Given the description of an element on the screen output the (x, y) to click on. 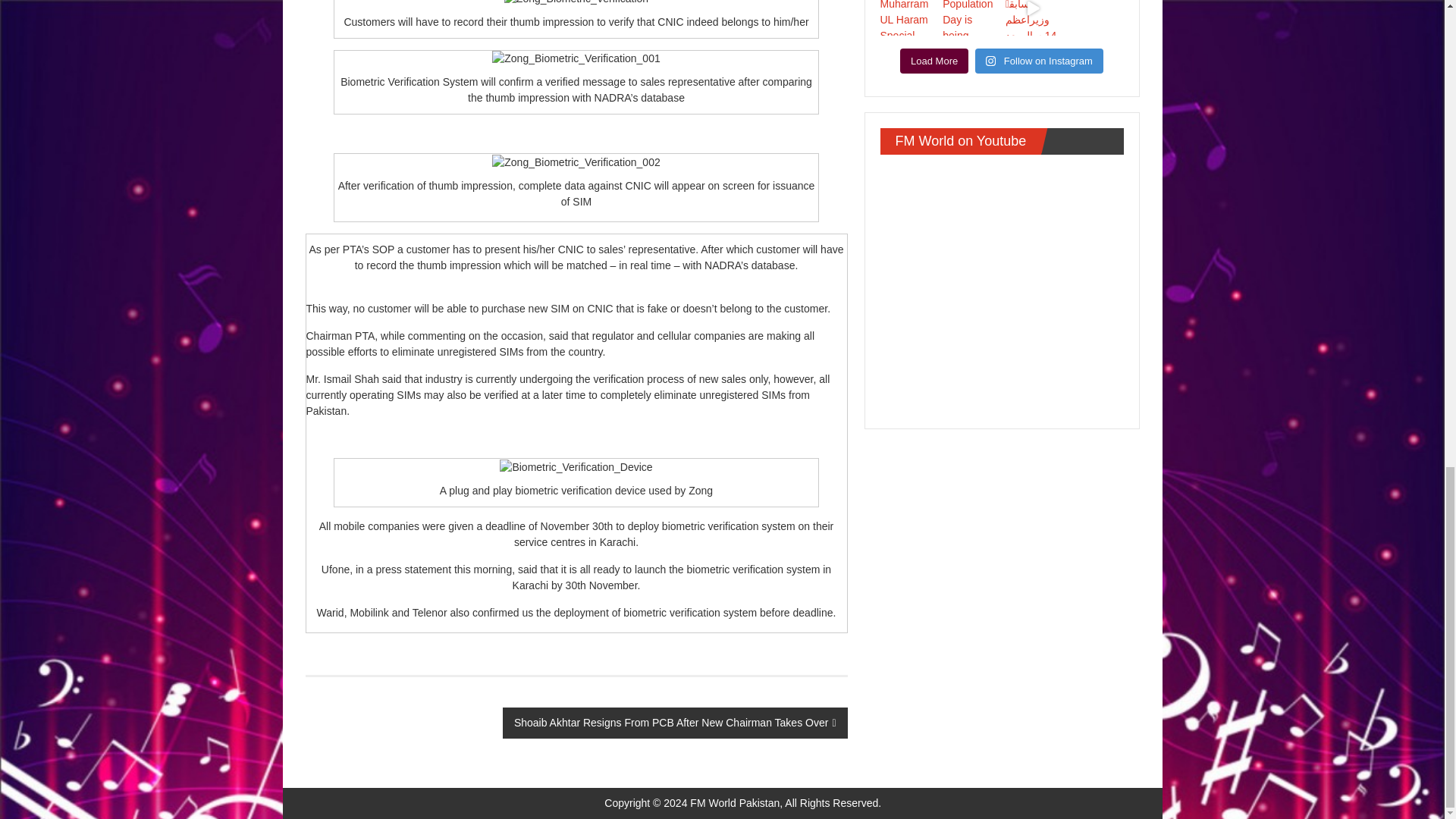
Follow on Instagram (1039, 61)
YouTube video player (1000, 288)
Load More (933, 61)
Shoaib Akhtar Resigns From PCB After New Chairman Takes Over (674, 722)
